Given the description of an element on the screen output the (x, y) to click on. 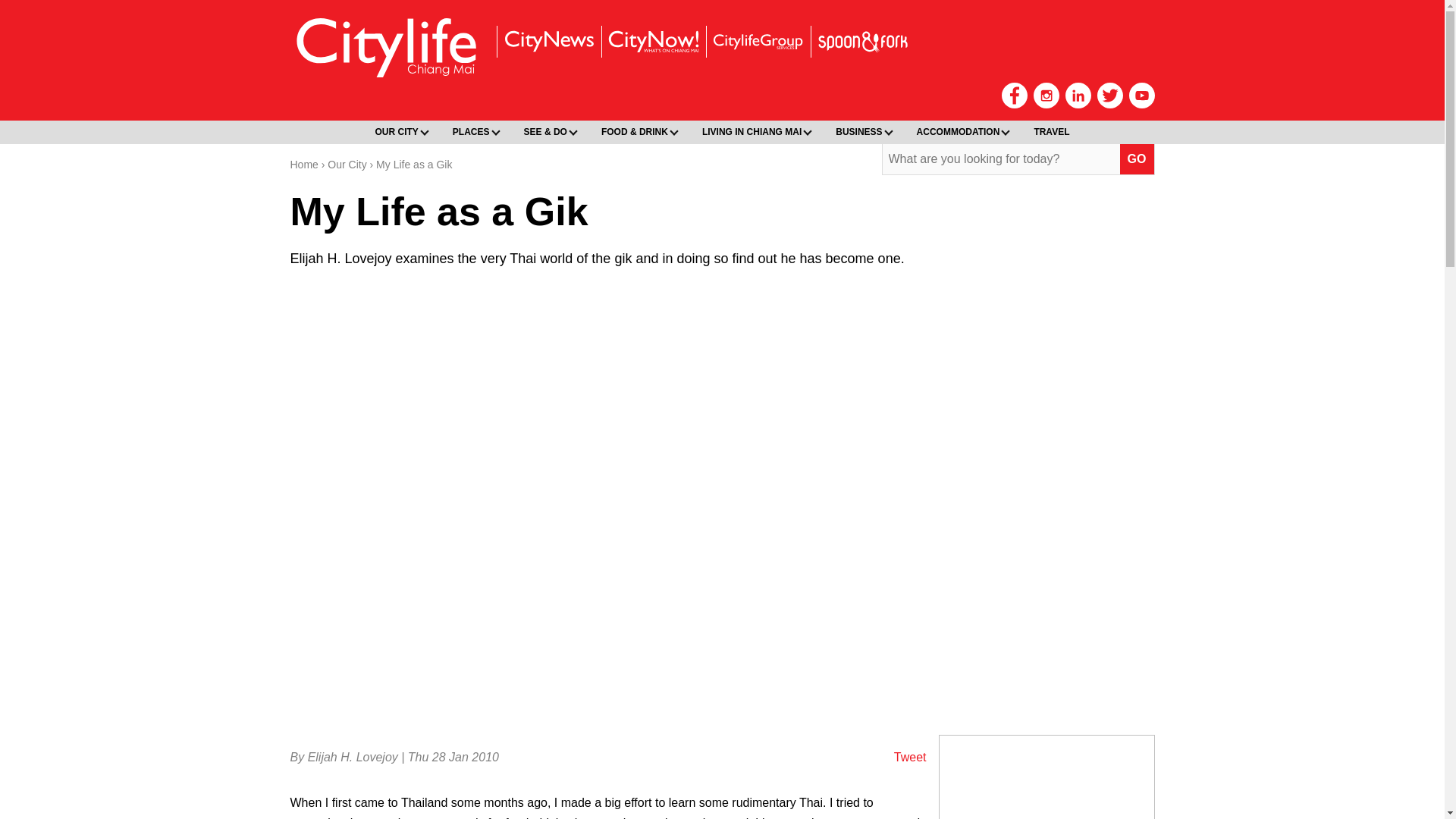
CityNow - What's on Chiang Mai (652, 41)
OUR CITY (398, 132)
CityNews (548, 41)
Go (1136, 159)
Go (1136, 159)
PLACES (473, 132)
Citylife Group Services (757, 40)
Chiang Mai Citylife (386, 47)
